Given the description of an element on the screen output the (x, y) to click on. 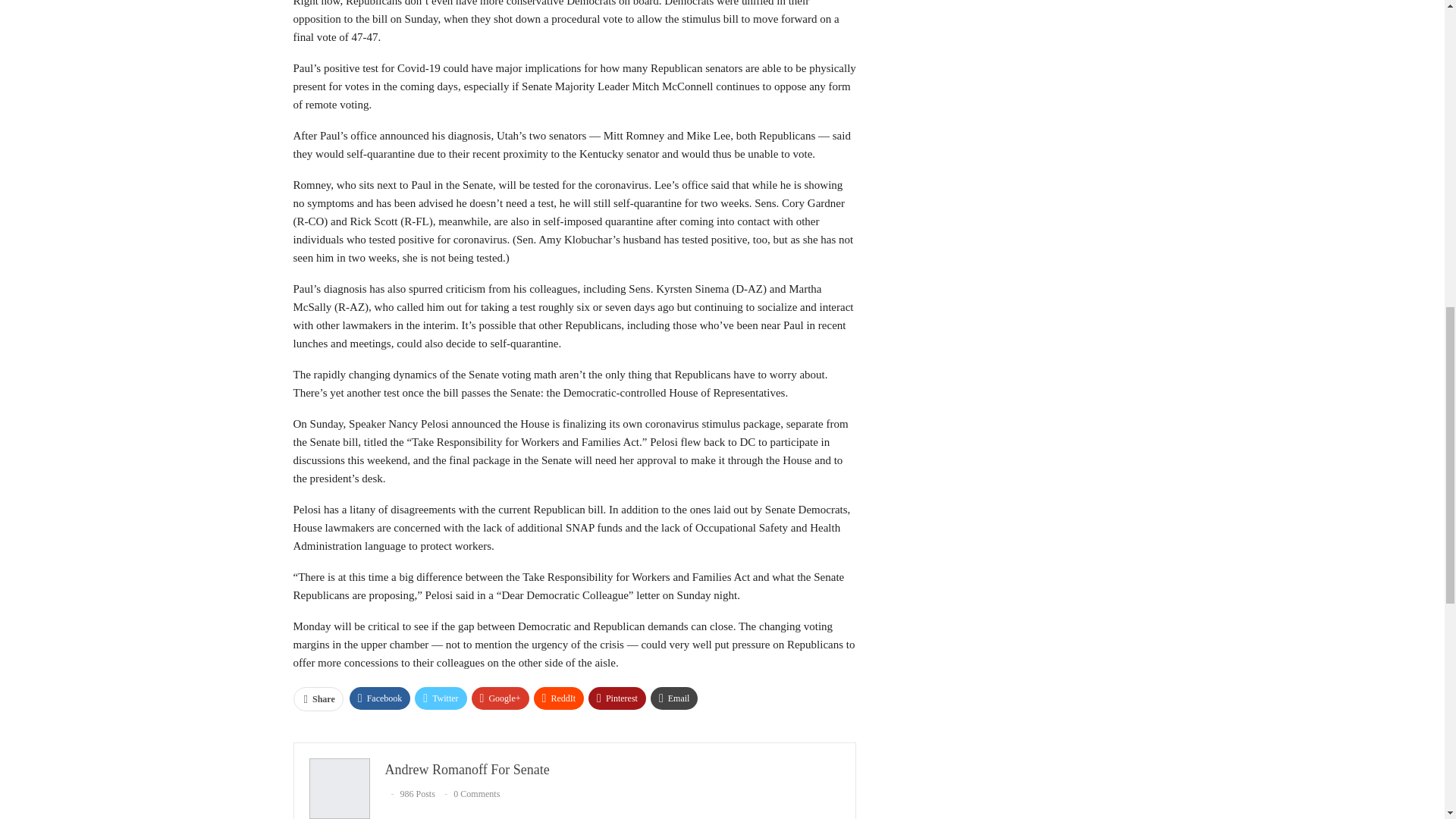
Facebook (379, 698)
Twitter (439, 698)
Andrew Romanoff For Senate (467, 769)
ReddIt (559, 698)
Pinterest (617, 698)
Email (674, 698)
